Given the description of an element on the screen output the (x, y) to click on. 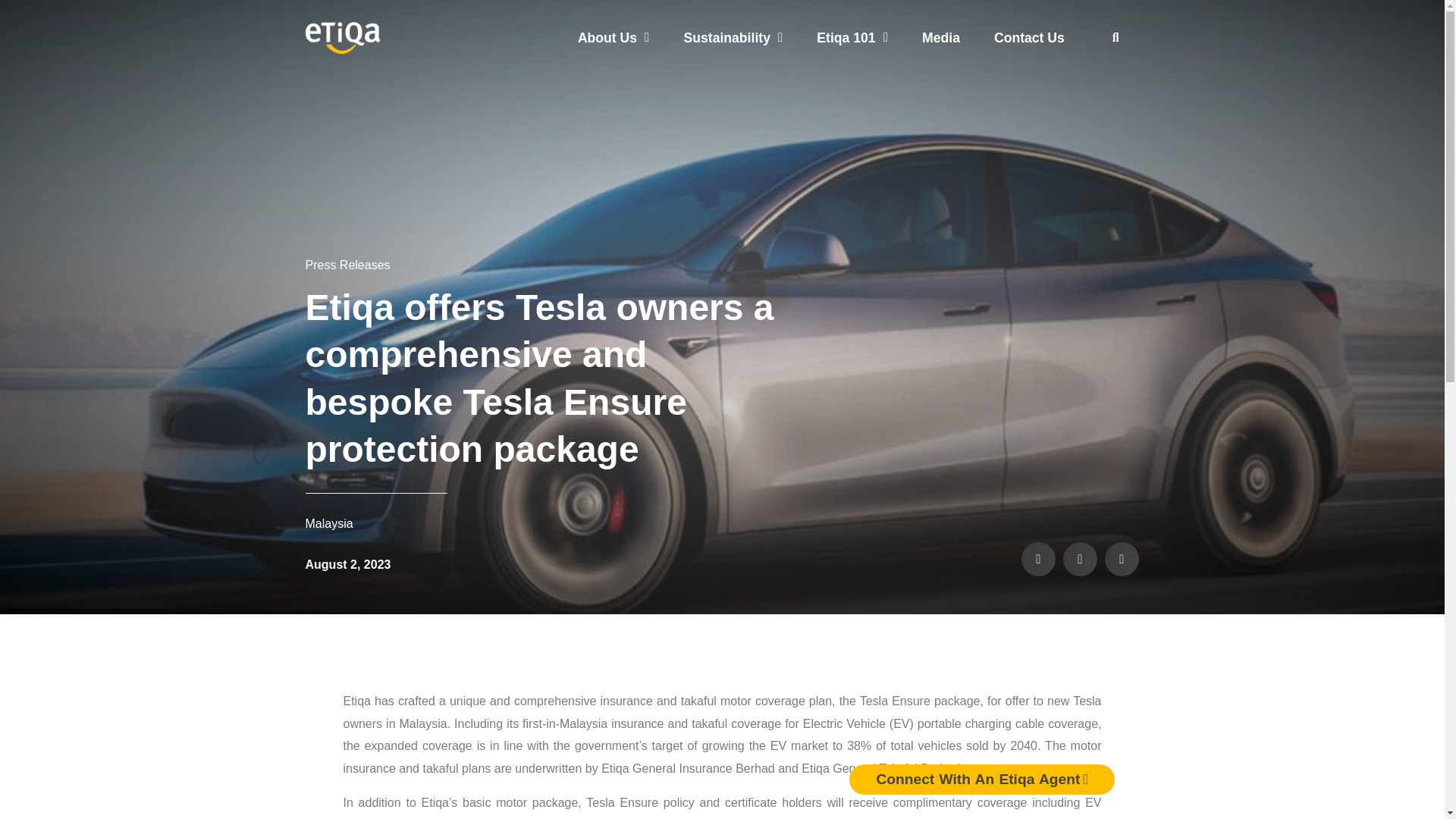
About Us (613, 37)
Sustainability (732, 37)
Media (941, 37)
Etiqa 101 (852, 37)
Contact Us (1029, 37)
